Given the description of an element on the screen output the (x, y) to click on. 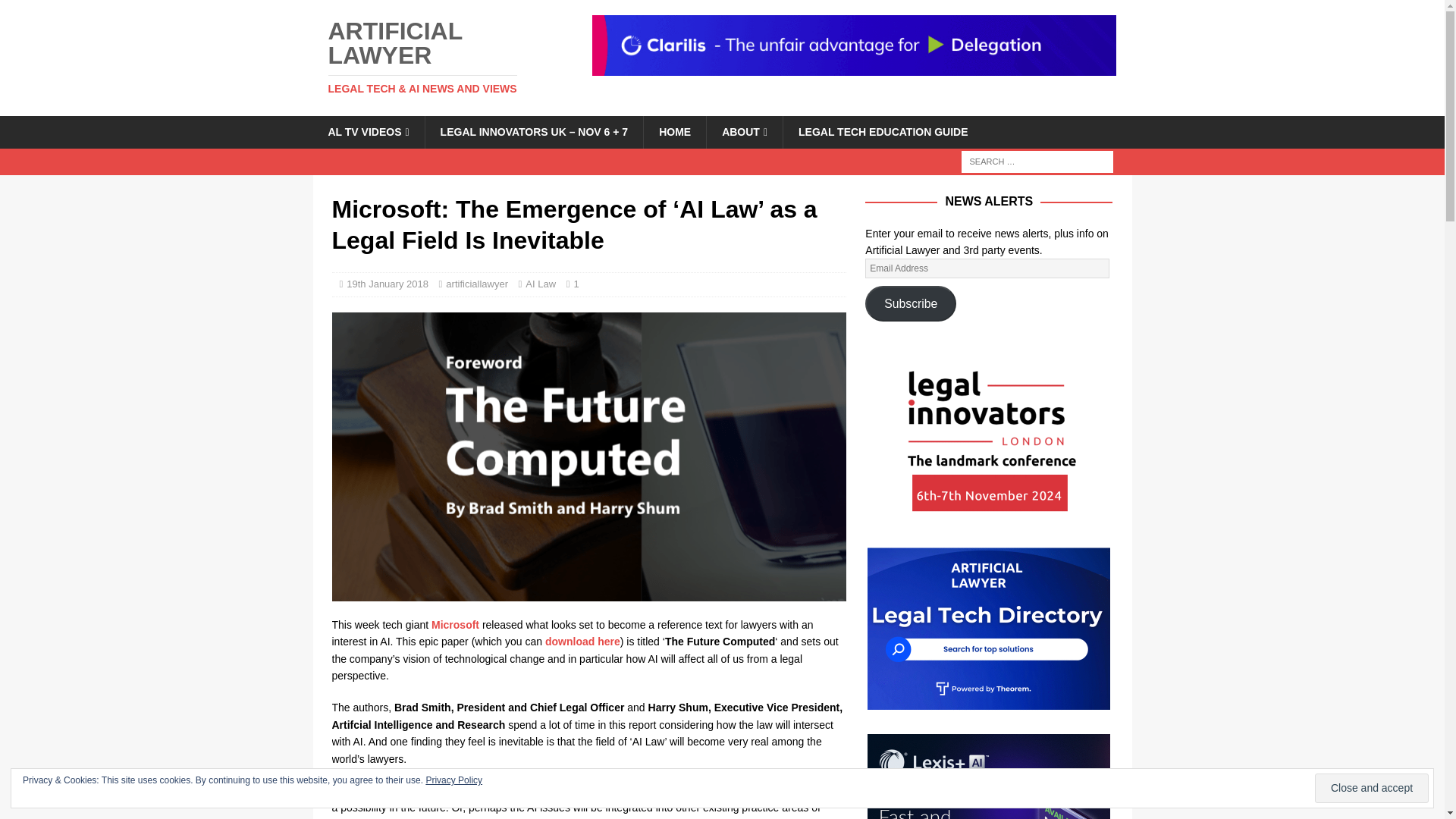
HOME (674, 132)
Artificial Lawyer (441, 56)
19th January 2018 (387, 283)
LEGAL TECH EDUCATION GUIDE (883, 132)
artificiallawyer (476, 283)
Close and accept (1371, 788)
ABOUT (744, 132)
AL TV VIDEOS (368, 132)
AI Law (540, 283)
Search (56, 11)
